Given the description of an element on the screen output the (x, y) to click on. 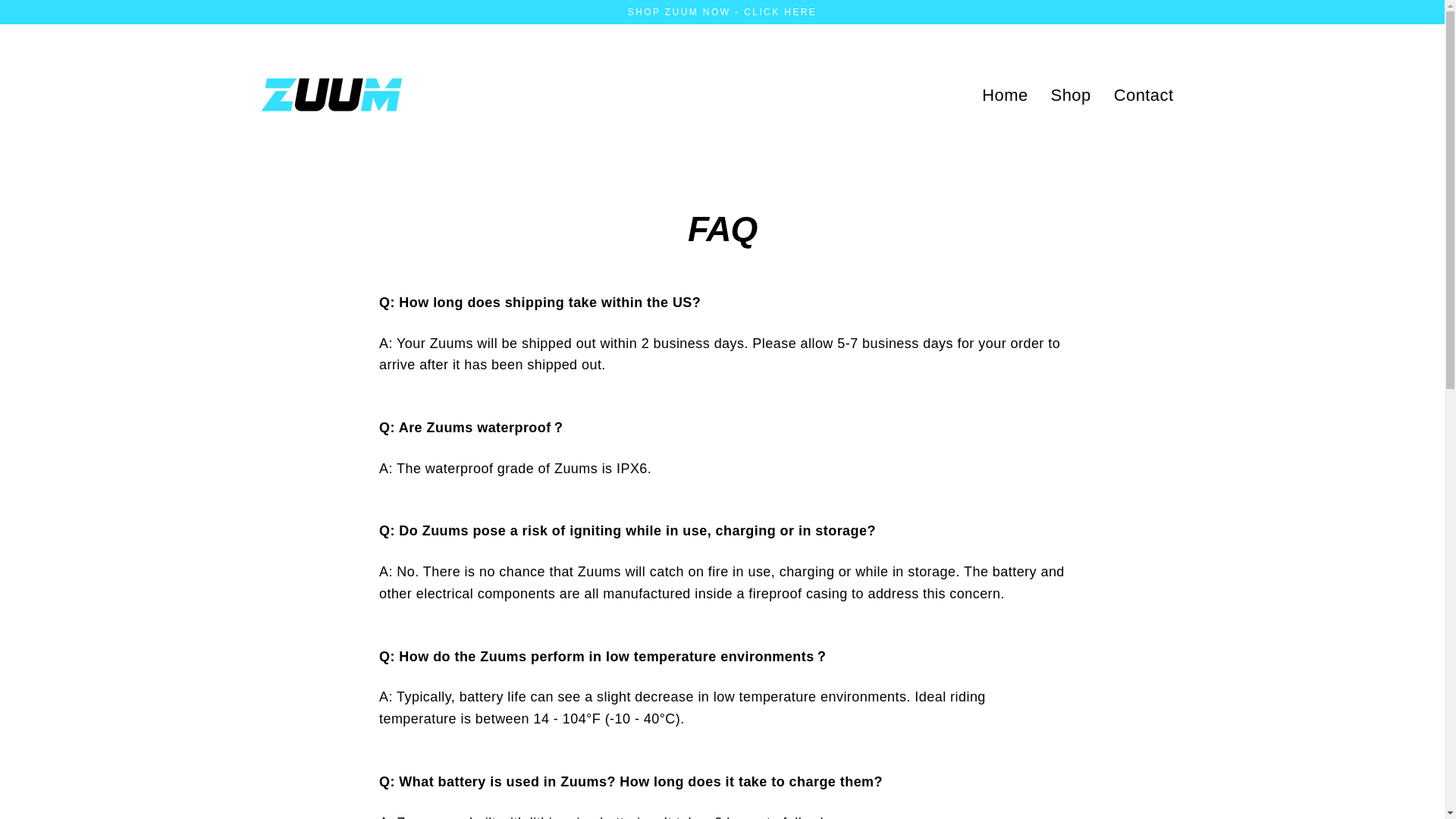
Contact (1143, 94)
Shop (1070, 94)
Home (1005, 94)
